Given the description of an element on the screen output the (x, y) to click on. 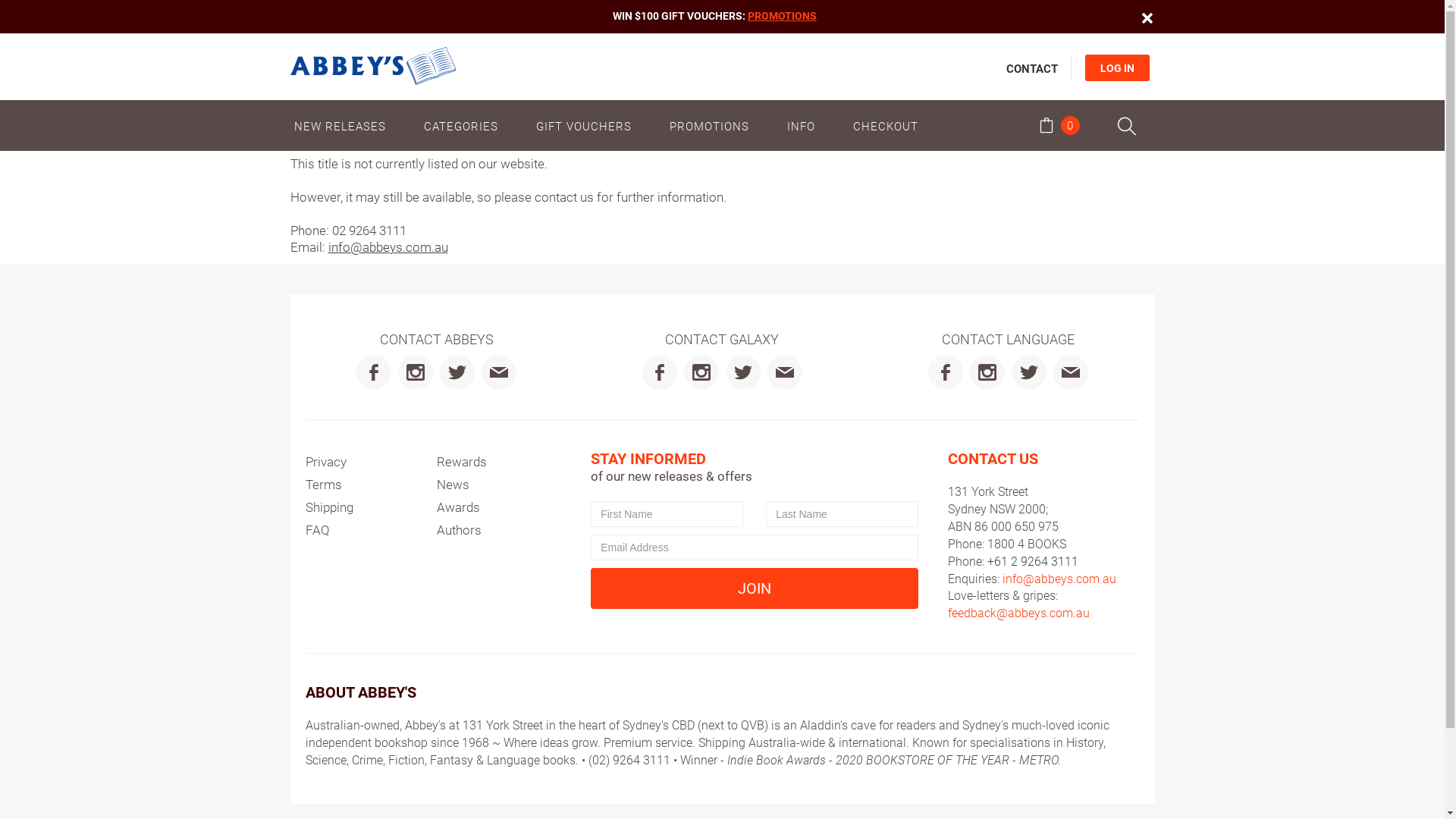
PROMOTIONS Element type: text (781, 15)
info@abbeys.com.au Element type: text (387, 246)
Terms Element type: text (322, 484)
GIFT VOUCHERS Element type: text (583, 125)
CATEGORIES Element type: text (460, 125)
feedback@abbeys.com.au Element type: text (1018, 612)
NEW RELEASES Element type: text (346, 125)
Shipping Element type: text (328, 506)
CONTACT LANGUAGE Element type: text (1007, 339)
News Element type: text (452, 484)
FAQ Element type: text (316, 529)
0 Element type: text (1058, 127)
info@abbeys.com.au Element type: text (1059, 578)
+61 2 9264 3111 Element type: text (1032, 561)
PROMOTIONS Element type: text (709, 125)
JOIN Element type: text (754, 588)
ABOUT ABBEY'S Element type: text (359, 692)
CHECKOUT Element type: text (885, 125)
INFO Element type: text (800, 125)
CONTACT ABBEYS Element type: text (436, 339)
Rewards Element type: text (461, 461)
Privacy Element type: text (324, 461)
CONTACT Element type: text (1031, 68)
CONTACT GALAXY Element type: text (721, 339)
Authors Element type: text (458, 529)
Awards Element type: text (458, 506)
